Given the description of an element on the screen output the (x, y) to click on. 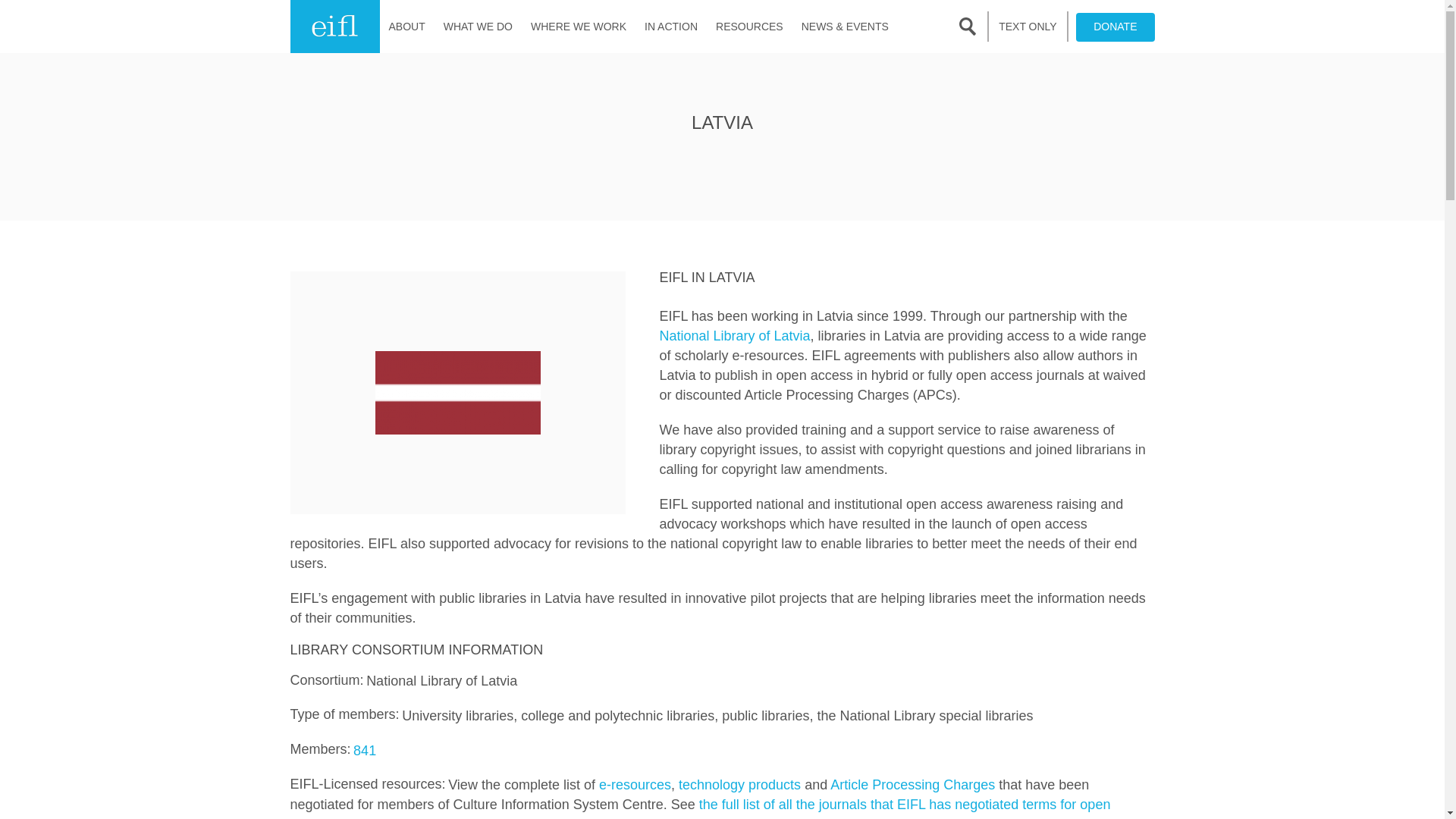
Home (333, 26)
WHAT WE DO (477, 26)
ABOUT (405, 26)
